Given the description of an element on the screen output the (x, y) to click on. 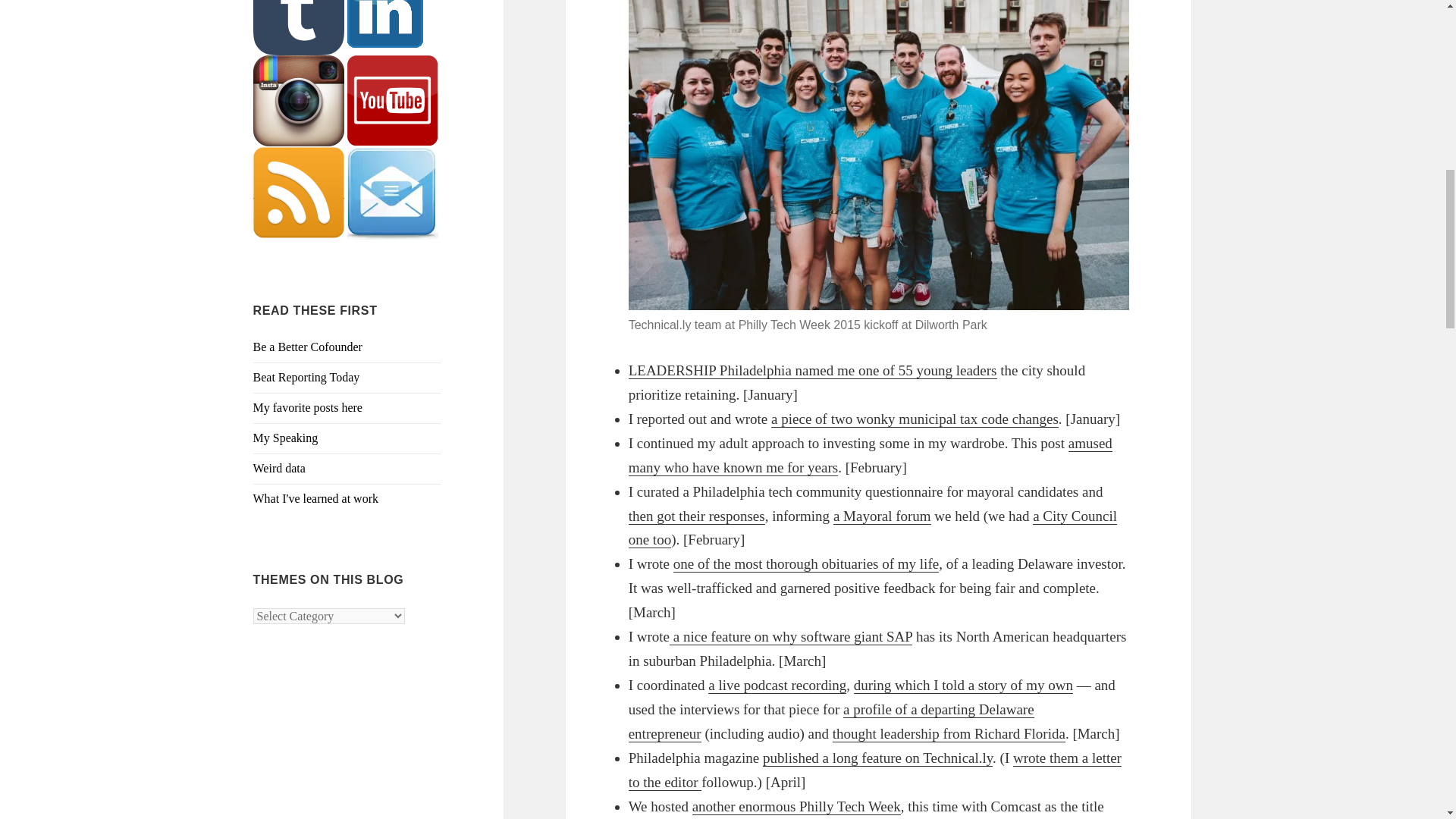
a piece of two wonky municipal tax code changes (914, 419)
Beat Reporting Today (306, 377)
a profile of a departing Delaware entrepreneur (830, 721)
a nice feature on why software giant SAP (790, 636)
LEADERSHIP Philadelphia named me one of 55 young leaders (812, 370)
Posts I write to quantify unexpected stuff (279, 468)
during which I told a story of my own (963, 685)
My favorite posts here (307, 407)
a Mayoral forum (881, 515)
Weird data (279, 468)
My Speaking (285, 437)
then got their responses (696, 515)
amused many who have known me for years (870, 454)
What I've learned at work (315, 498)
a live podcast recording (776, 685)
